Given the description of an element on the screen output the (x, y) to click on. 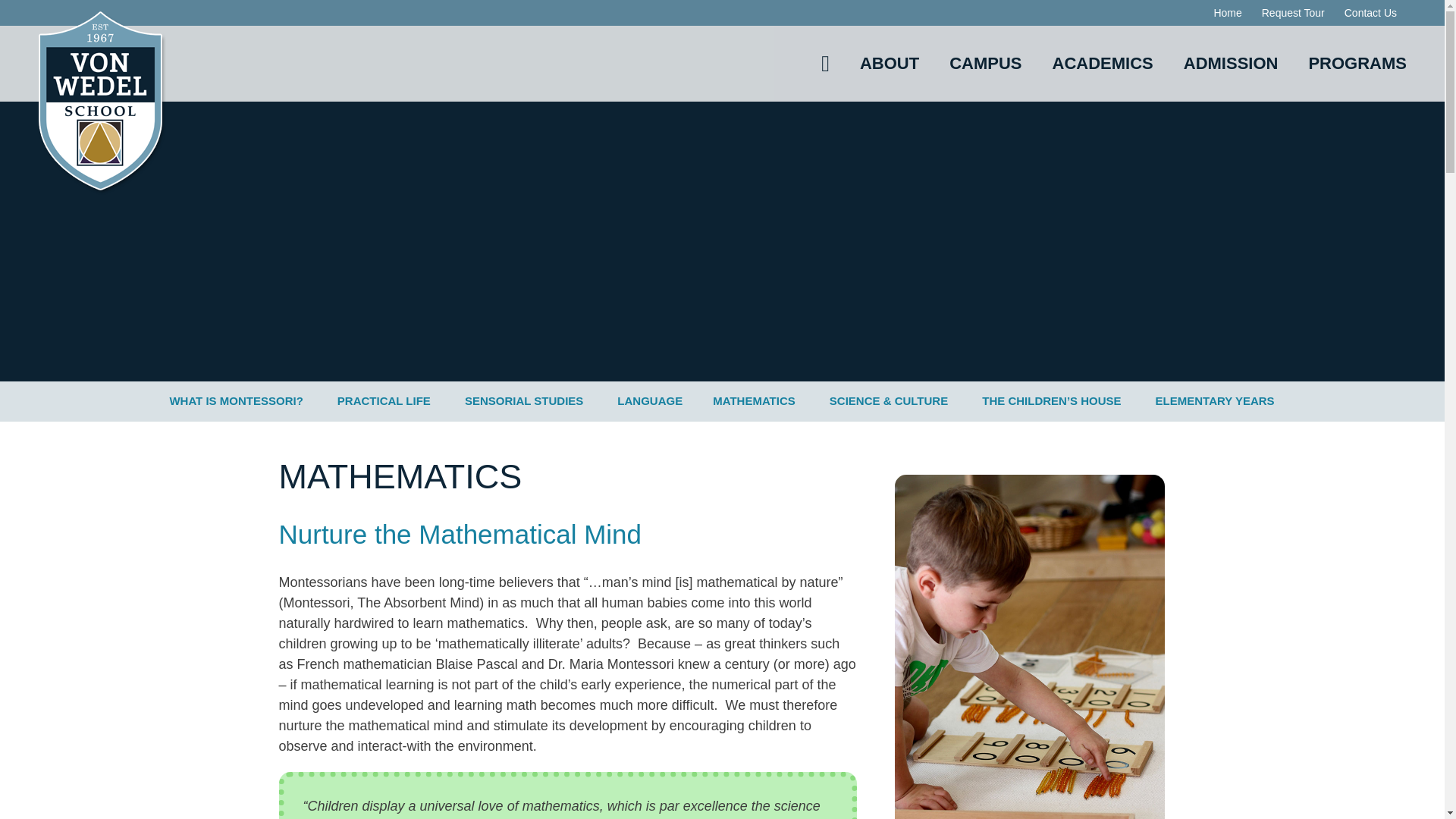
CAMPUS (985, 63)
ACADEMICS (1102, 63)
Request Tour (1293, 12)
Home (1227, 12)
Contact Us (1370, 12)
ADMISSION (1230, 63)
PROGRAMS (1356, 63)
